Given the description of an element on the screen output the (x, y) to click on. 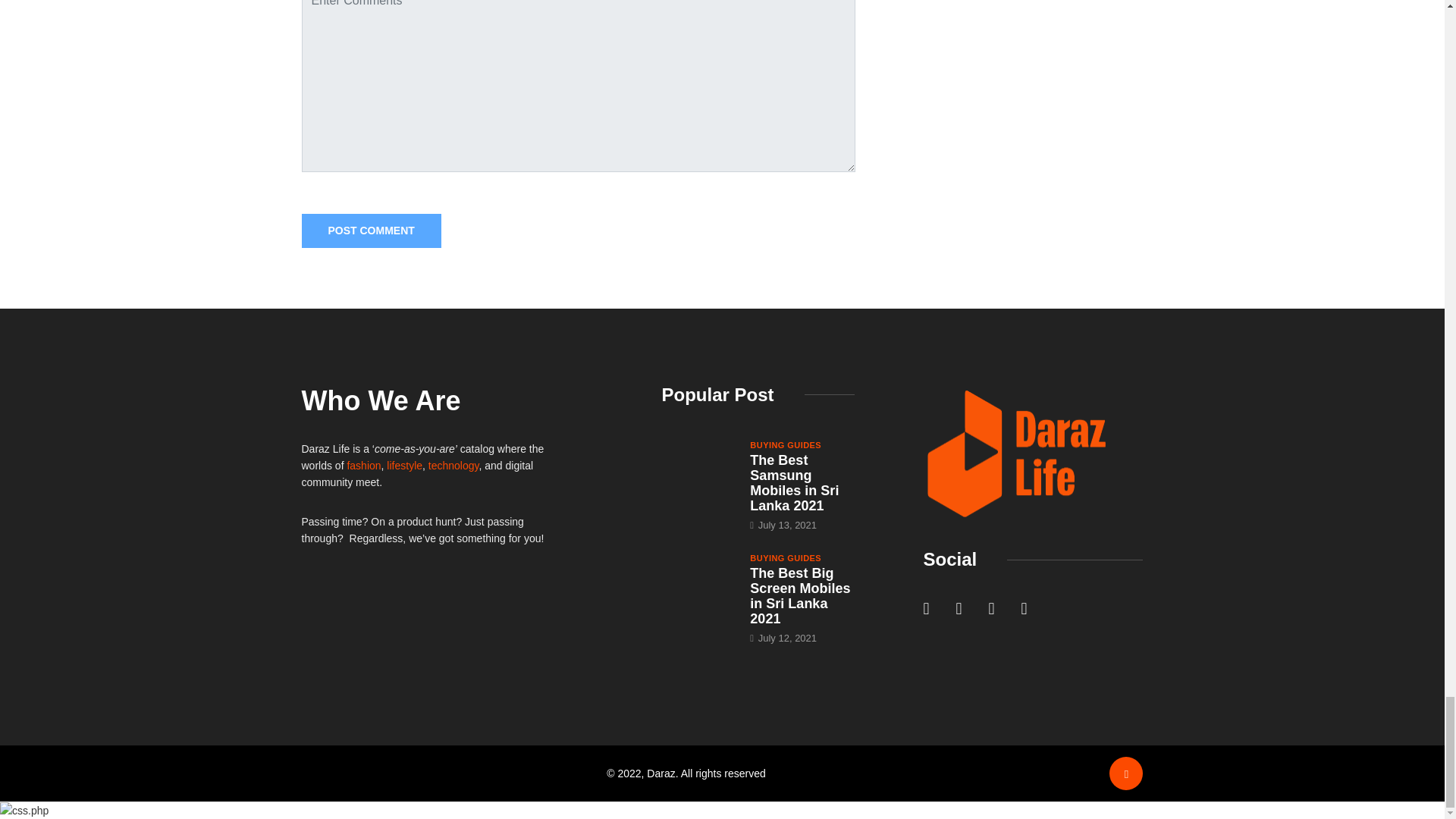
The Best Big Screen Mobiles in Sri Lanka 2021 (698, 578)
The Best Samsung Mobiles in Sri Lanka 2021 (698, 465)
The Best Samsung Mobiles in Sri Lanka 2021 (793, 482)
The Best Big Screen Mobiles in Sri Lanka 2021 (799, 595)
Post Comment (371, 230)
